Given the description of an element on the screen output the (x, y) to click on. 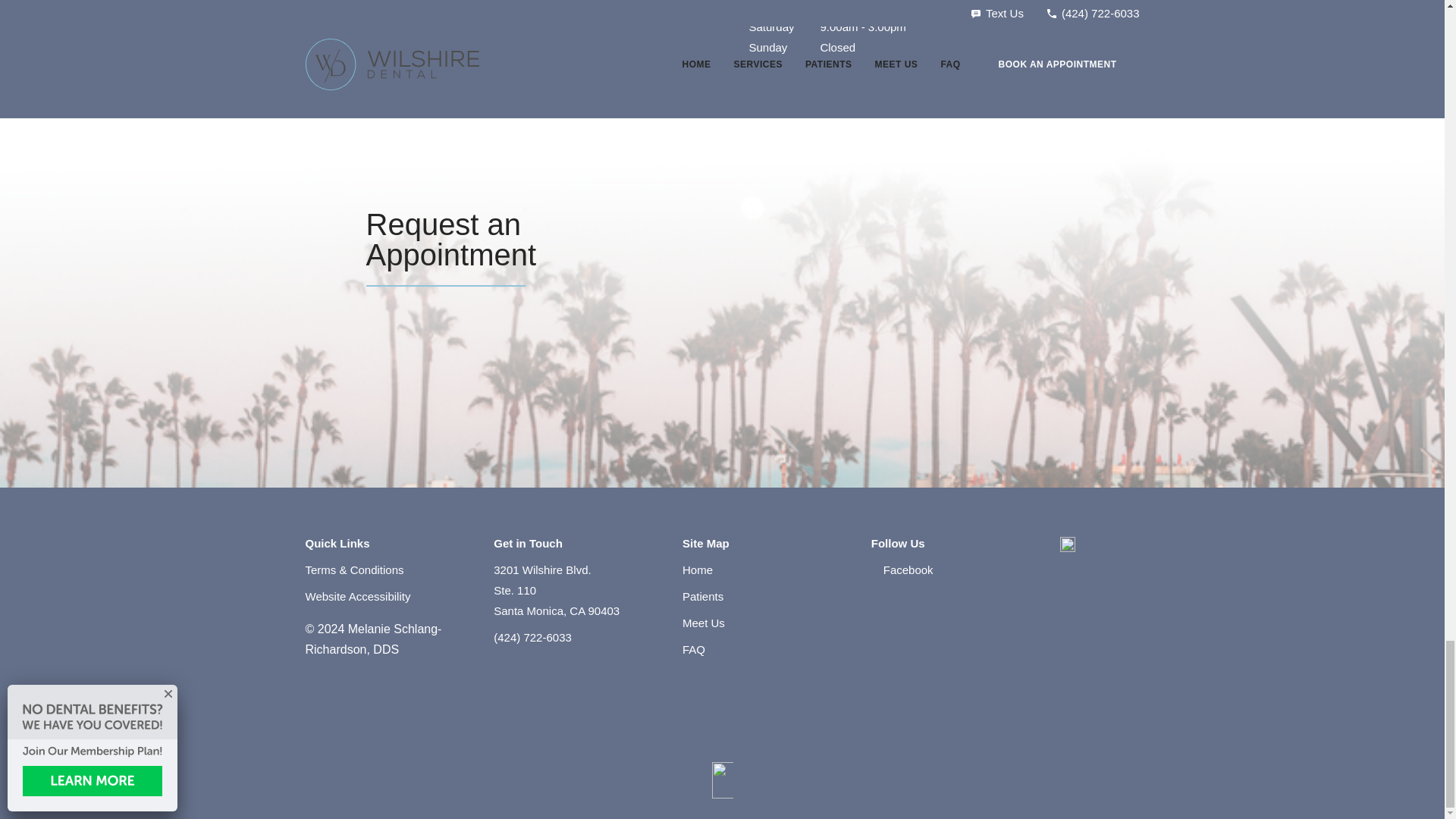
Home (556, 589)
Website Accessibility (700, 569)
Meet Us (357, 596)
Patients (703, 622)
FAQ (702, 596)
Facebook (700, 649)
